Given the description of an element on the screen output the (x, y) to click on. 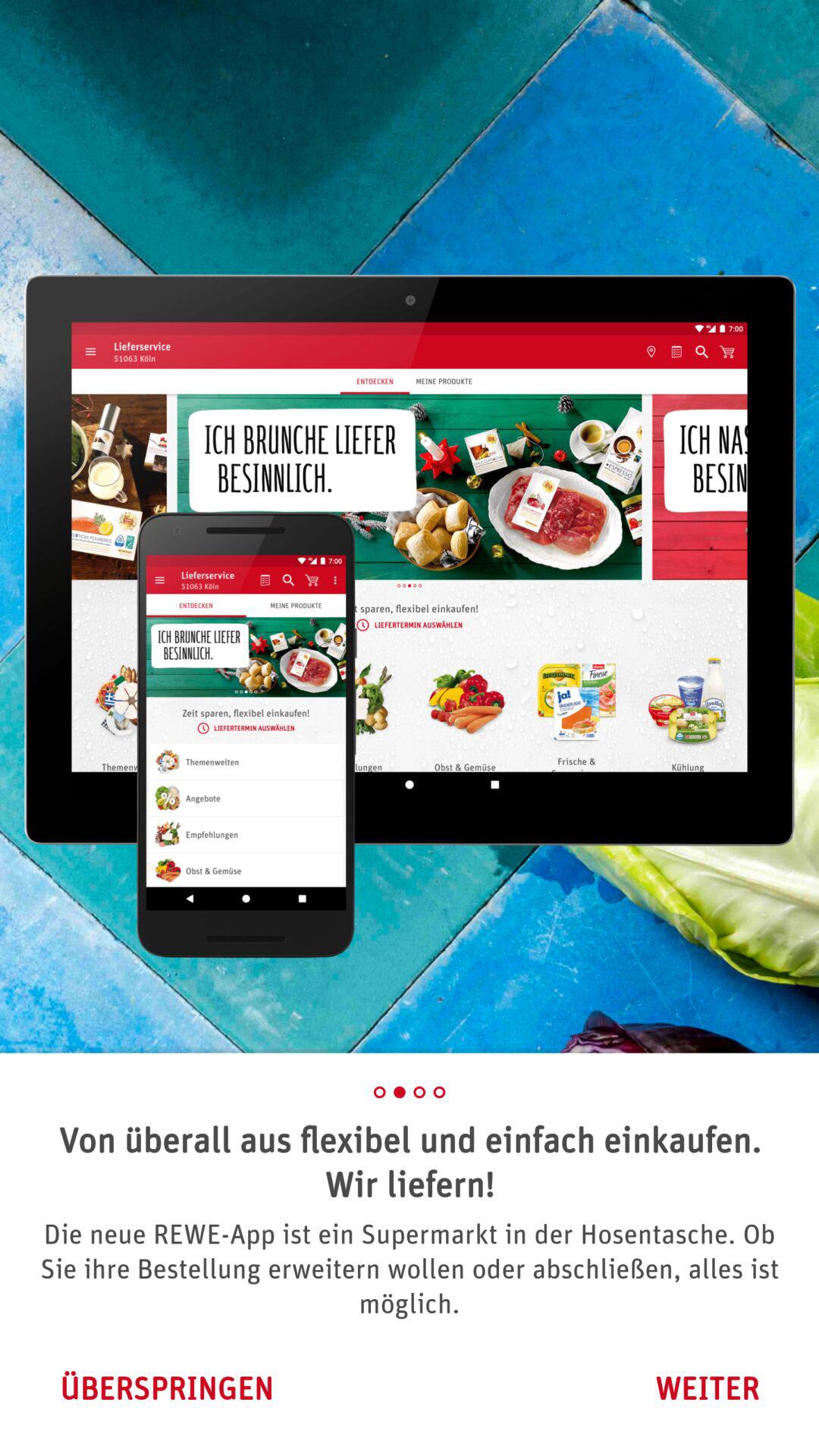
turn off icon at the bottom right corner (707, 1388)
